Given the description of an element on the screen output the (x, y) to click on. 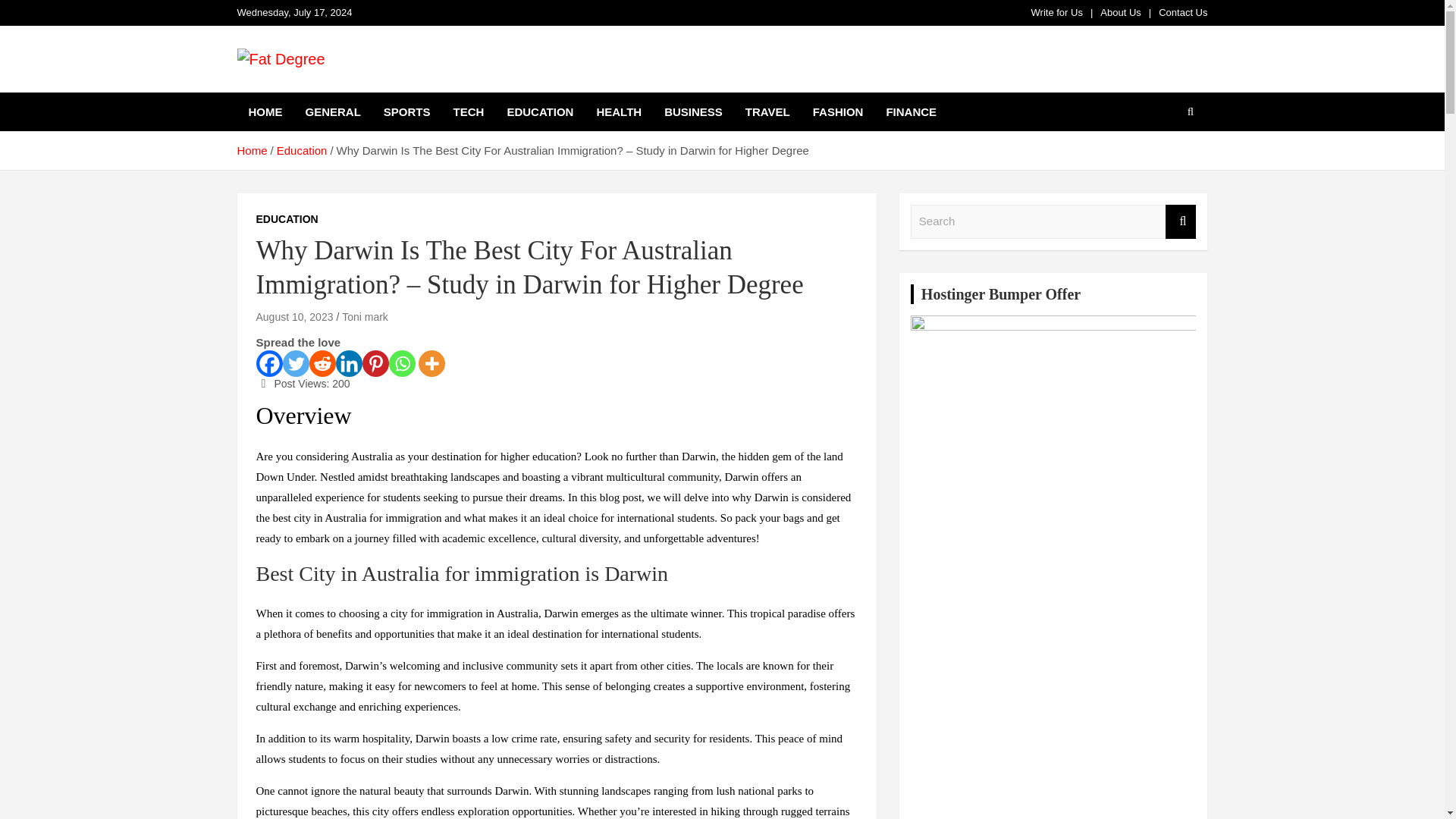
Home (250, 150)
BUSINESS (692, 111)
Pinterest (375, 363)
Facebook (269, 363)
EDUCATION (287, 219)
HOME (264, 111)
Write for Us (1056, 12)
GENERAL (333, 111)
EDUCATION (540, 111)
Education (301, 150)
HEALTH (618, 111)
FINANCE (911, 111)
Fat Degree (306, 89)
Contact Us (1182, 12)
